Given the description of an element on the screen output the (x, y) to click on. 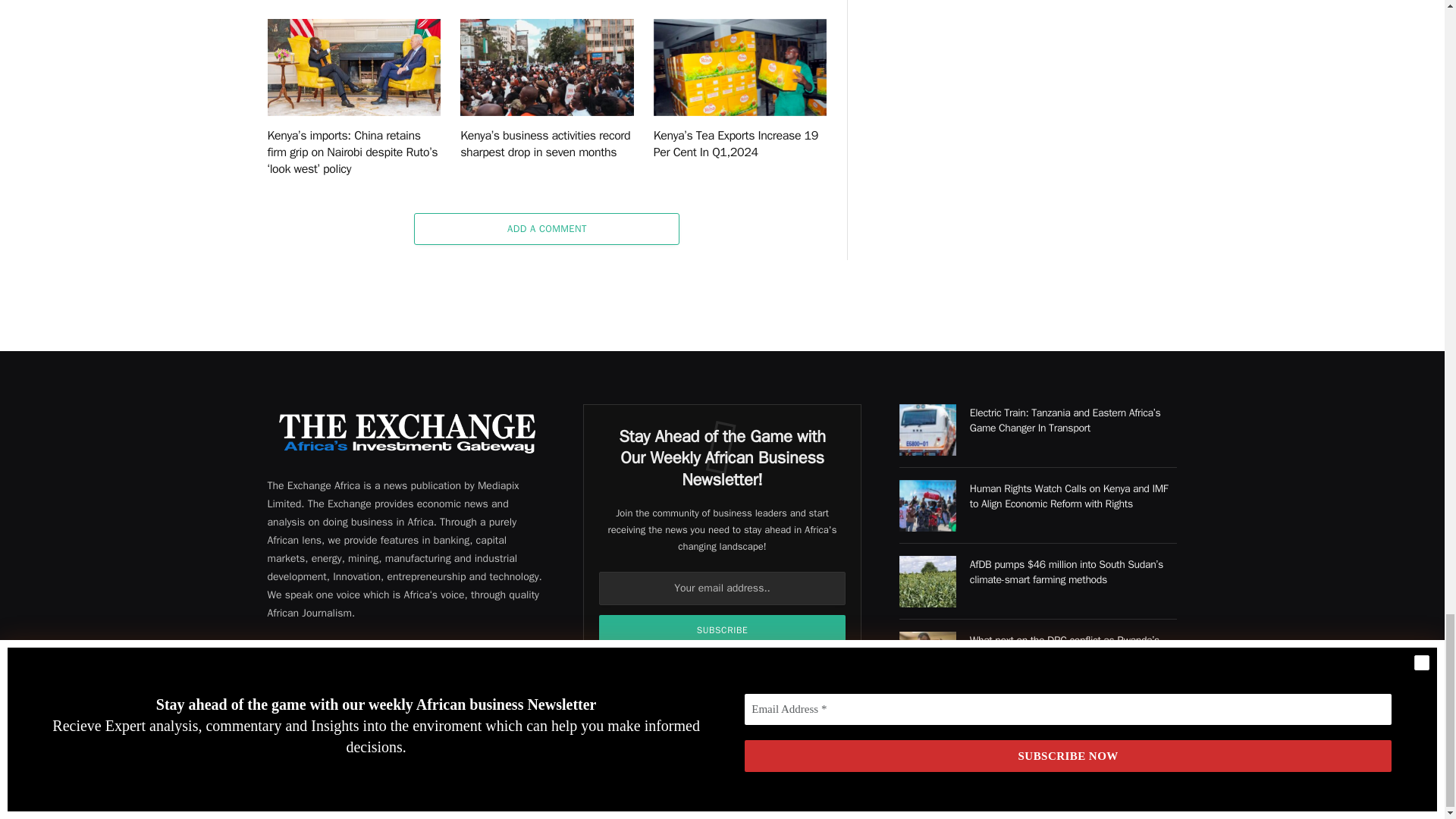
on (624, 667)
Subscribe (721, 630)
